Given the description of an element on the screen output the (x, y) to click on. 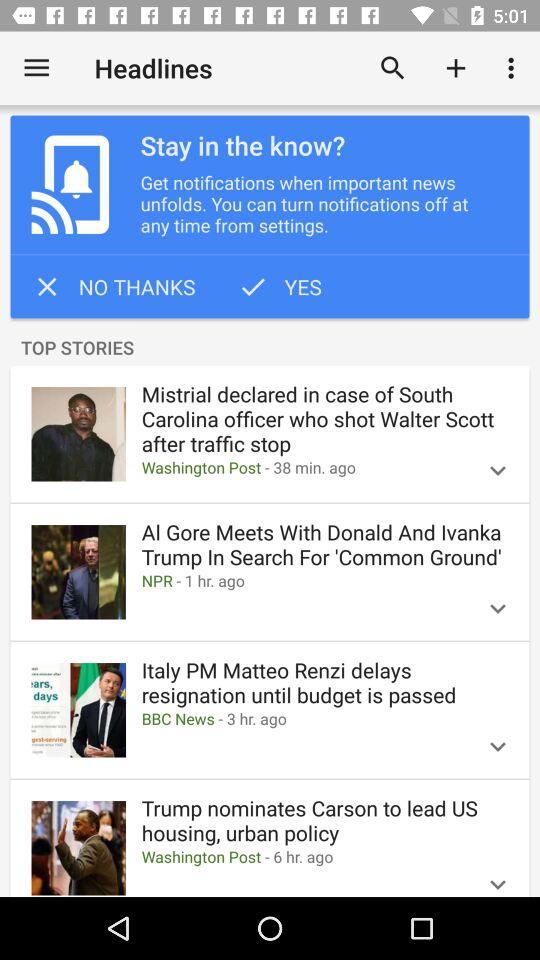
turn off the no thanks (113, 286)
